Given the description of an element on the screen output the (x, y) to click on. 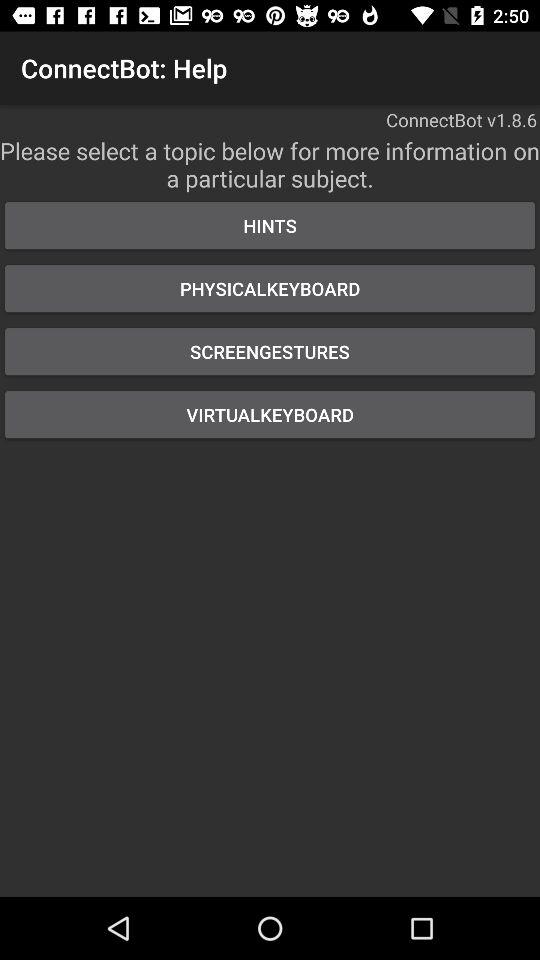
jump to the screengestures item (270, 351)
